Given the description of an element on the screen output the (x, y) to click on. 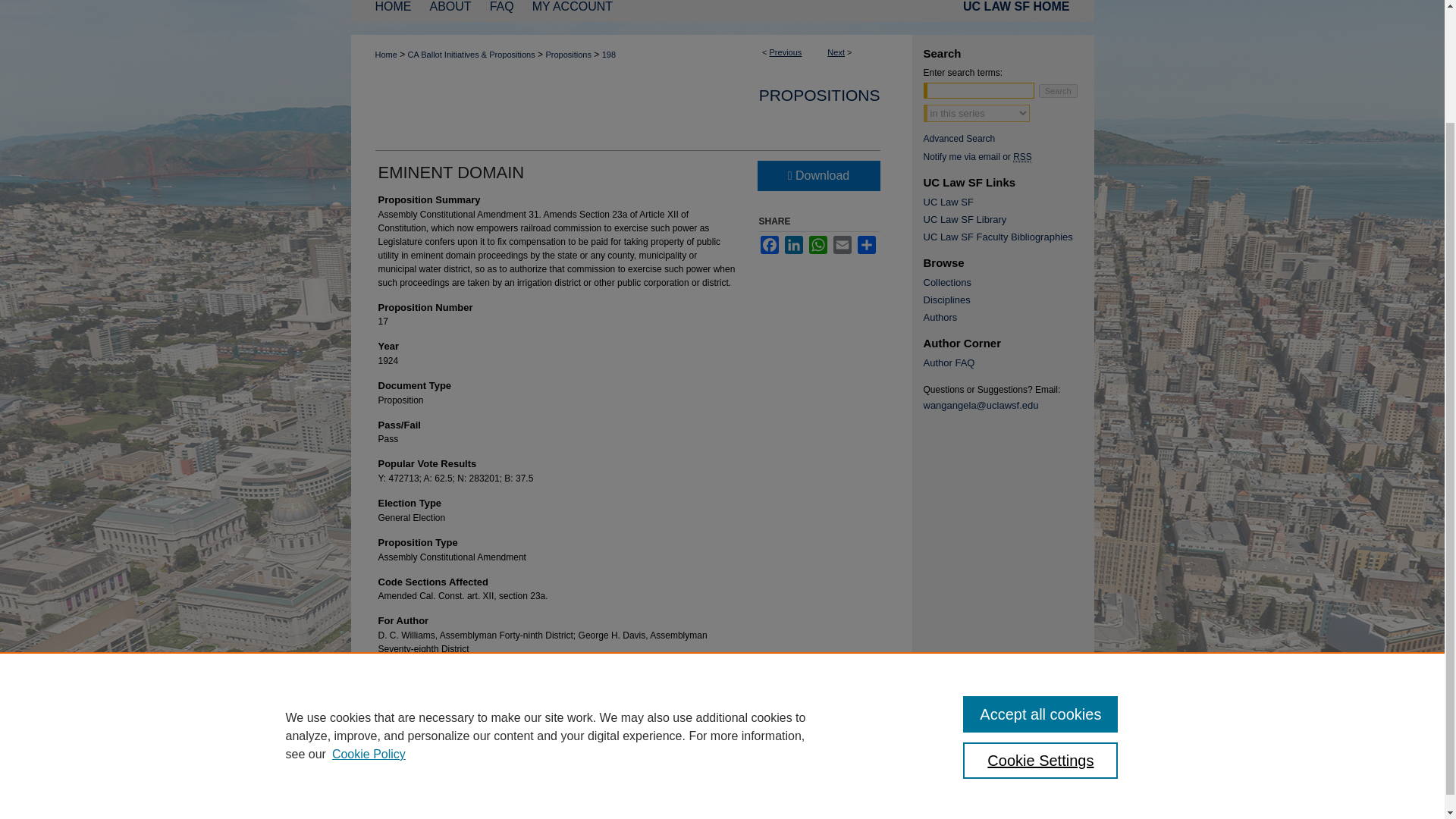
Next (835, 51)
Really Simple Syndication (1022, 156)
UC Law SF Faculty Bibliographies (1008, 236)
Collections (1008, 282)
Notify me via email or RSS (1008, 156)
UC Law SF (1008, 202)
EMINENT DOMAIN (450, 171)
UC Law SF Library (1008, 219)
Author FAQ (1008, 362)
FAQ (501, 11)
Previous (786, 51)
Search (1058, 90)
WhatsApp (817, 244)
MY ACCOUNT (571, 11)
About (450, 11)
